Given the description of an element on the screen output the (x, y) to click on. 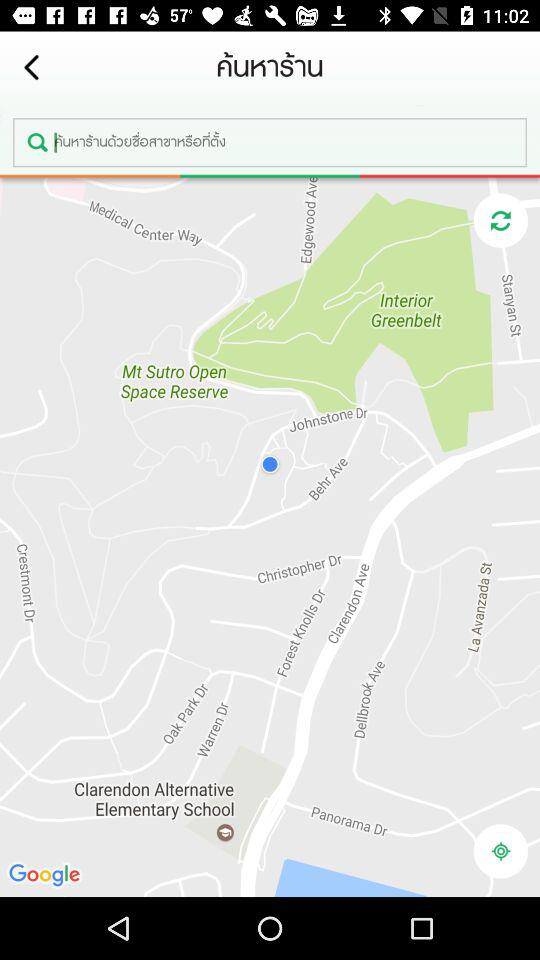
go back (31, 68)
